Given the description of an element on the screen output the (x, y) to click on. 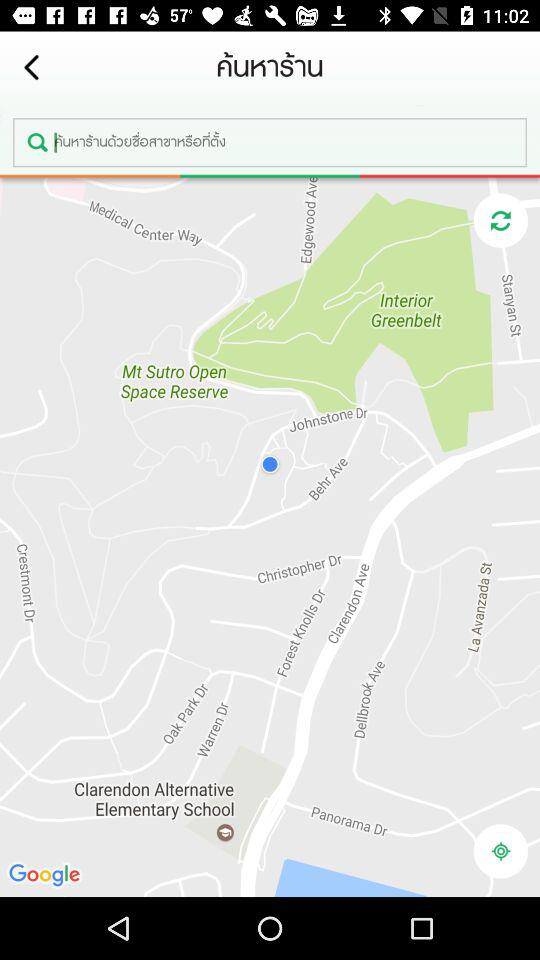
go back (31, 68)
